Given the description of an element on the screen output the (x, y) to click on. 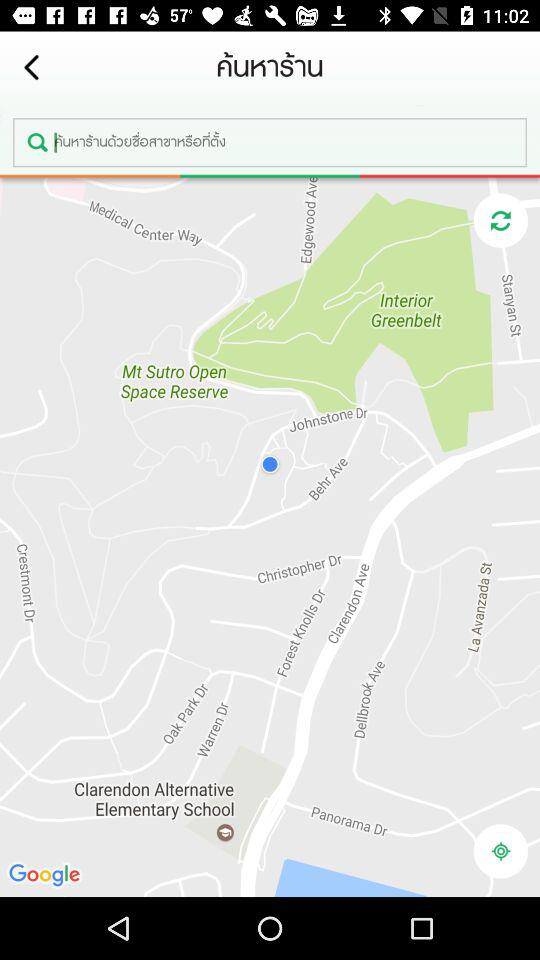
go back (31, 68)
